Given the description of an element on the screen output the (x, y) to click on. 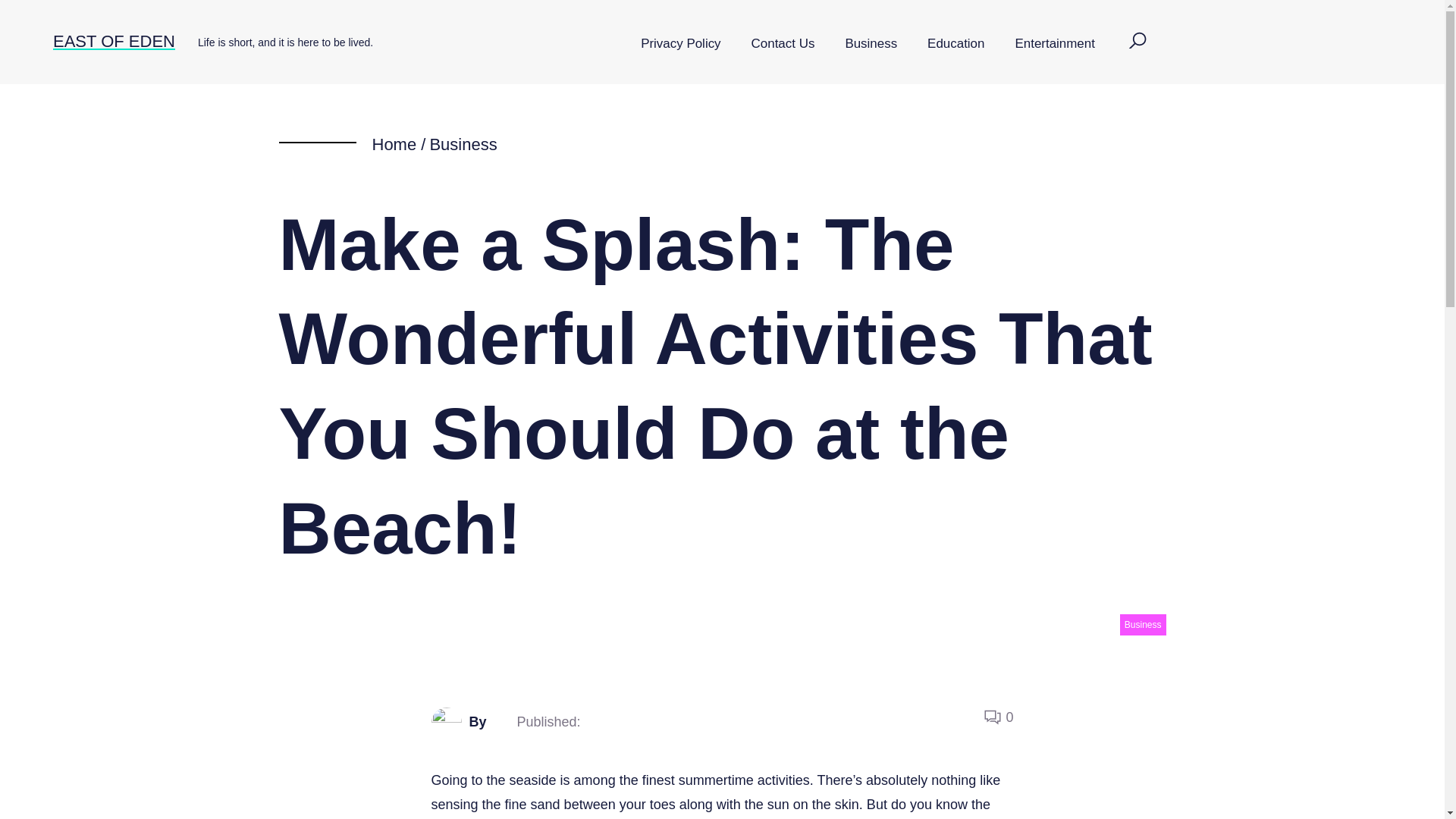
Business (870, 43)
Entertainment (1053, 43)
Contact Us (782, 43)
Privacy Policy (680, 43)
Education (955, 43)
Home (393, 144)
EAST OF EDEN (113, 40)
Business (1142, 624)
Business (462, 144)
